Given the description of an element on the screen output the (x, y) to click on. 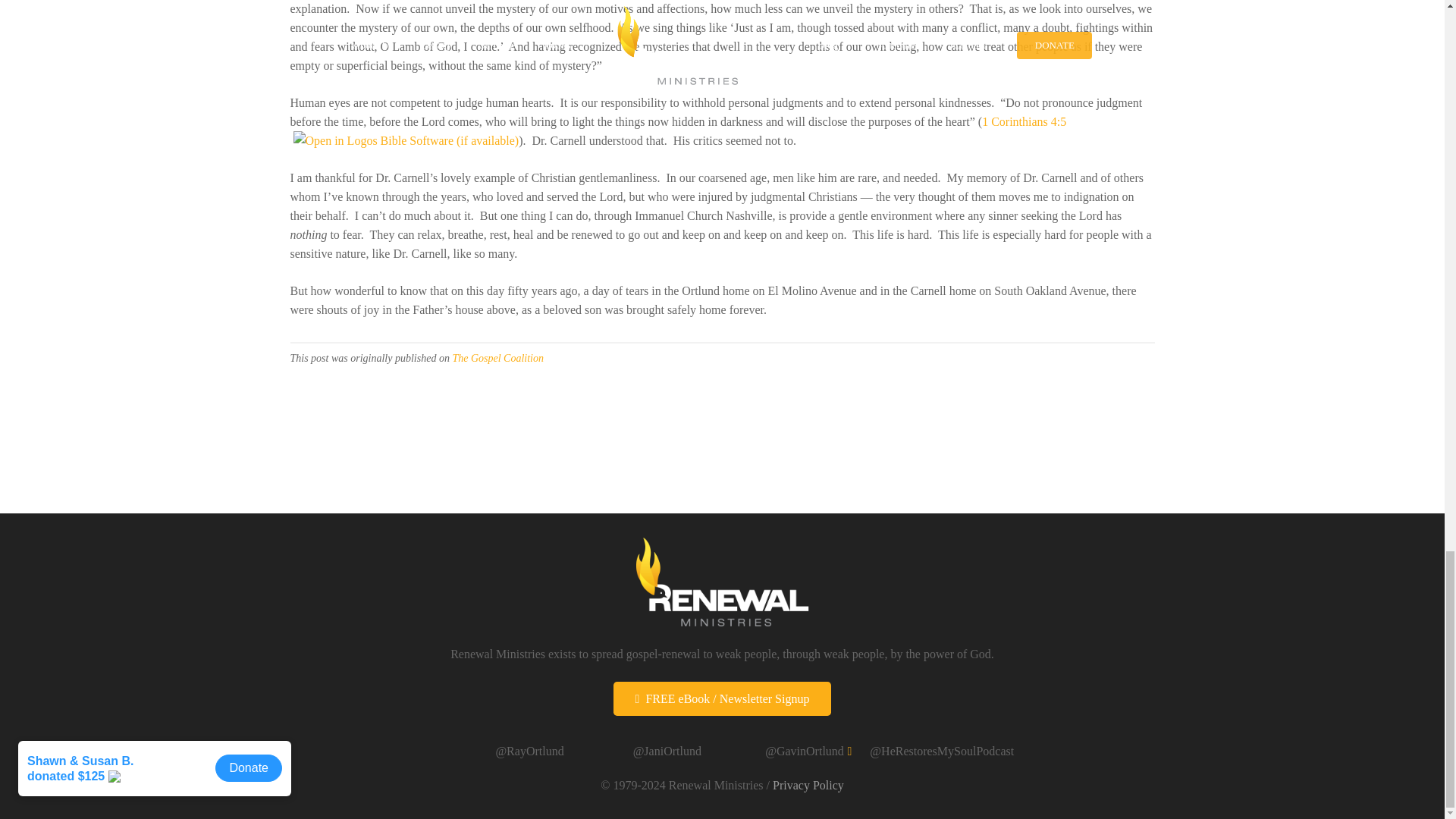
1 Corinthians 4:5 (1023, 121)
Privacy Policy (808, 784)
Newsletter Sign Up (721, 698)
Privacy Policy (808, 784)
The Gospel Coalition (497, 357)
